Given the description of an element on the screen output the (x, y) to click on. 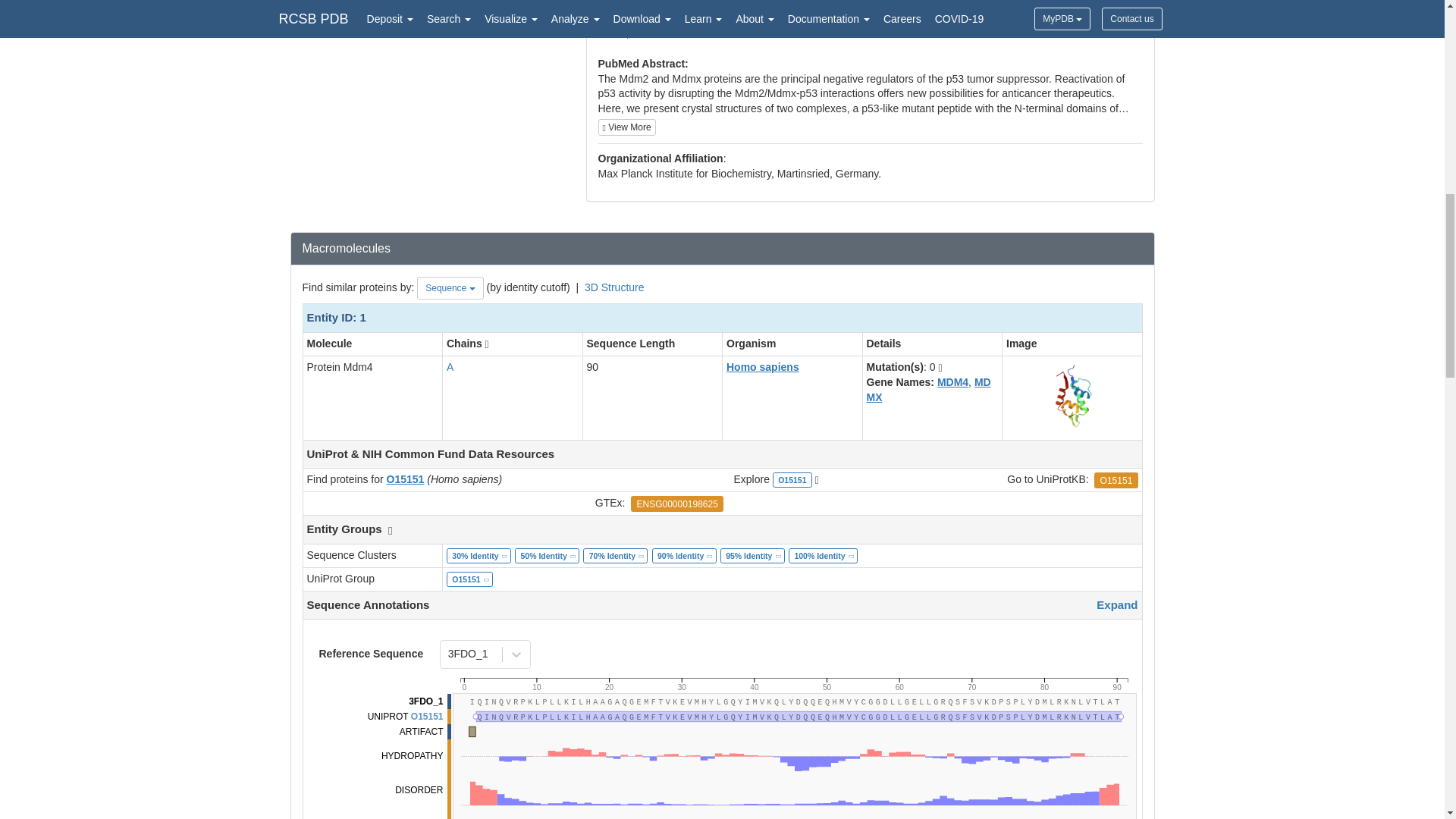
Diseases, drugs and related data (792, 681)
